Given the description of an element on the screen output the (x, y) to click on. 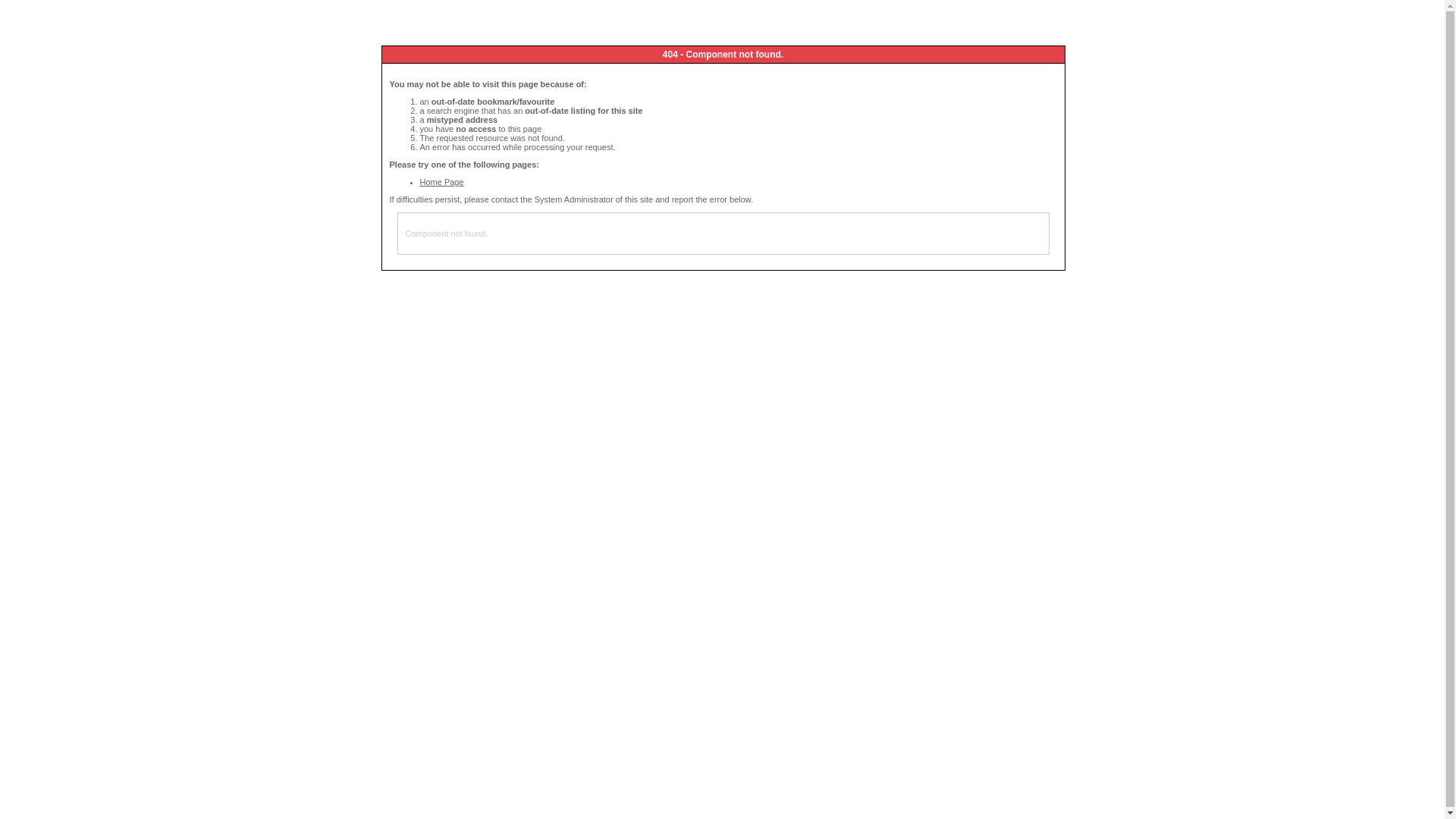
Home Page Element type: text (442, 181)
